Given the description of an element on the screen output the (x, y) to click on. 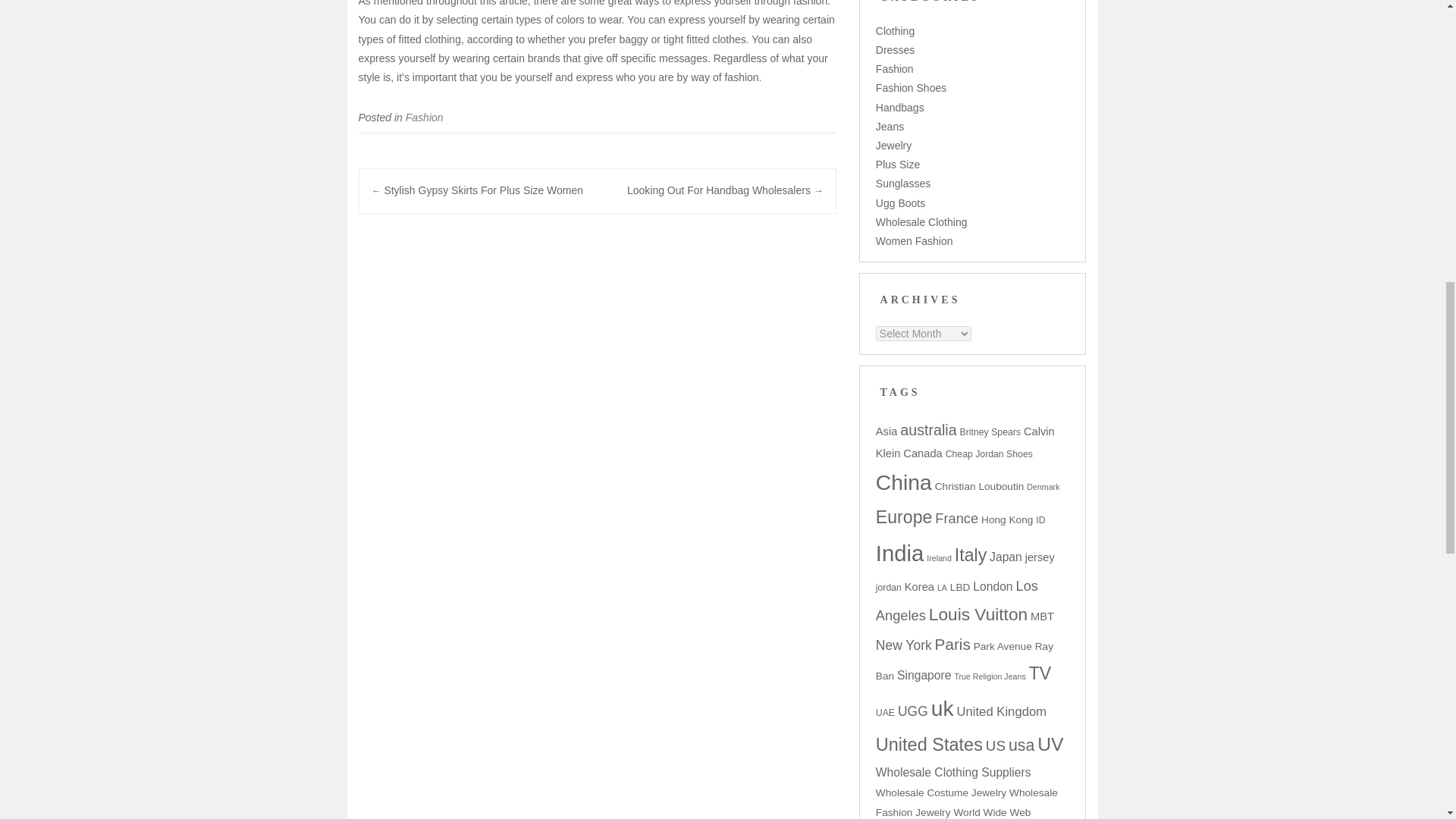
Fashion (425, 117)
Clothing (895, 30)
